Given the description of an element on the screen output the (x, y) to click on. 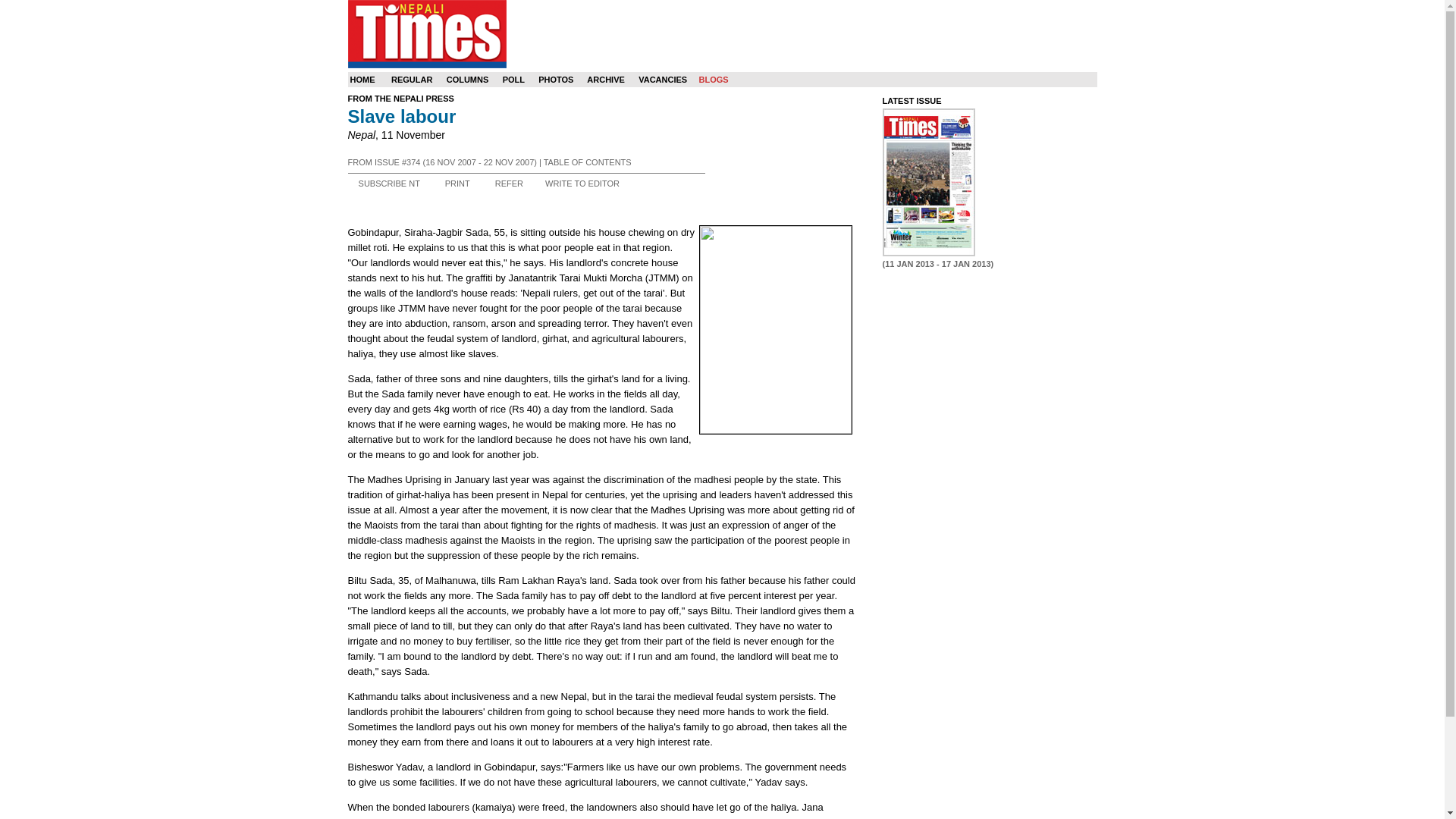
VACANCIES (663, 79)
REGULAR (411, 79)
PHOTOS (555, 79)
PRINT (458, 183)
HOME (362, 79)
COLUMNS (467, 79)
Nepali Times (426, 33)
BLOGS (713, 79)
ARCHIVE (605, 79)
POLL (513, 79)
